Given the description of an element on the screen output the (x, y) to click on. 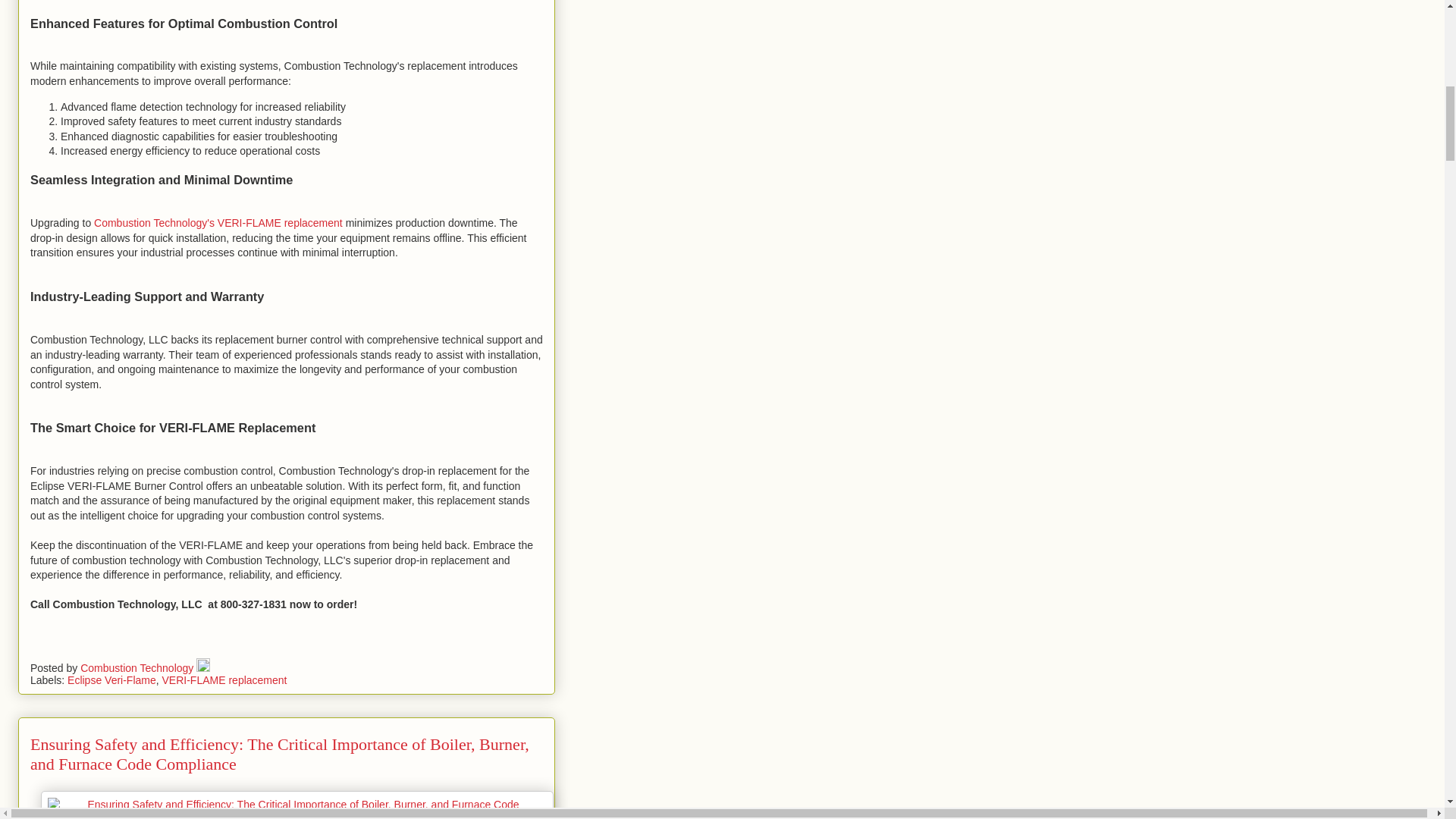
Eclipse Veri-Flame (110, 680)
author profile (138, 667)
Edit Post (202, 667)
VERI-FLAME replacement (223, 680)
Combustion Technology's VERI-FLAME replacement (218, 223)
Combustion Technology (138, 667)
